Given the description of an element on the screen output the (x, y) to click on. 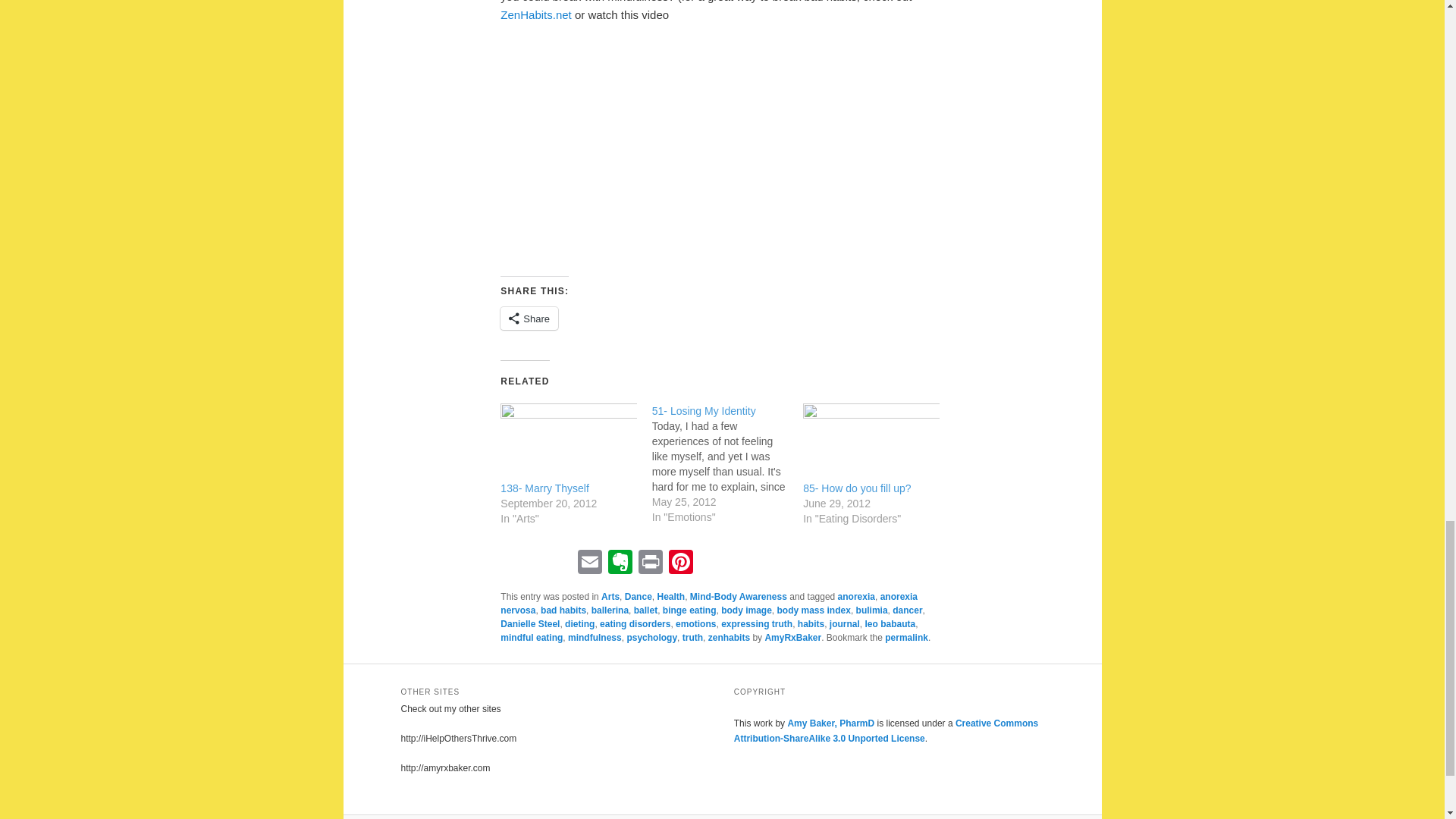
ZenHabits.net (535, 14)
Health (670, 596)
Email (590, 563)
138- Marry Thyself (544, 488)
51- Losing My Identity (703, 410)
Share (528, 318)
138- Marry Thyself (544, 488)
51- Losing My Identity (703, 410)
Dance (638, 596)
51- Losing My Identity (727, 463)
